Given the description of an element on the screen output the (x, y) to click on. 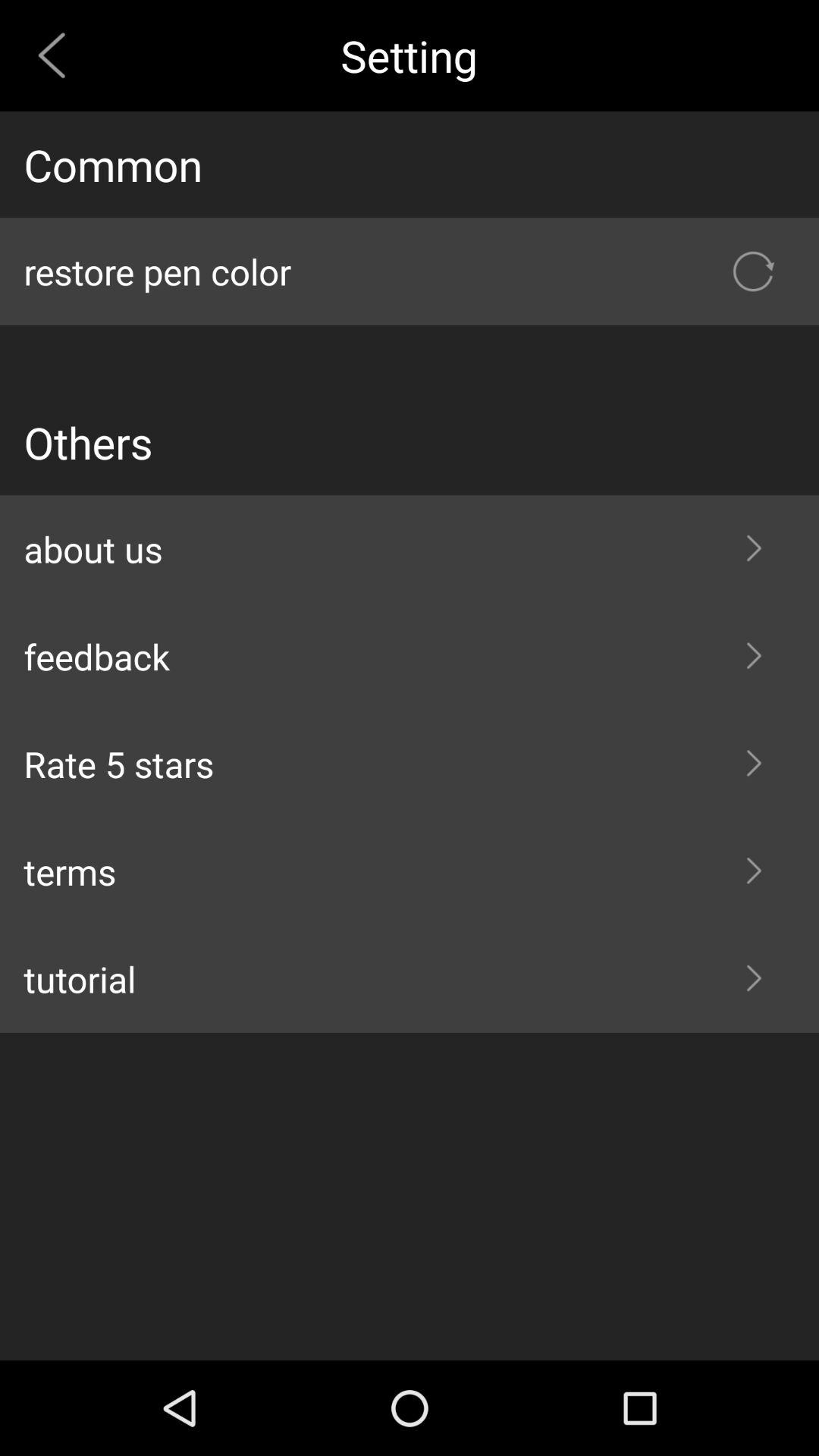
turn on item below terms icon (409, 978)
